Given the description of an element on the screen output the (x, y) to click on. 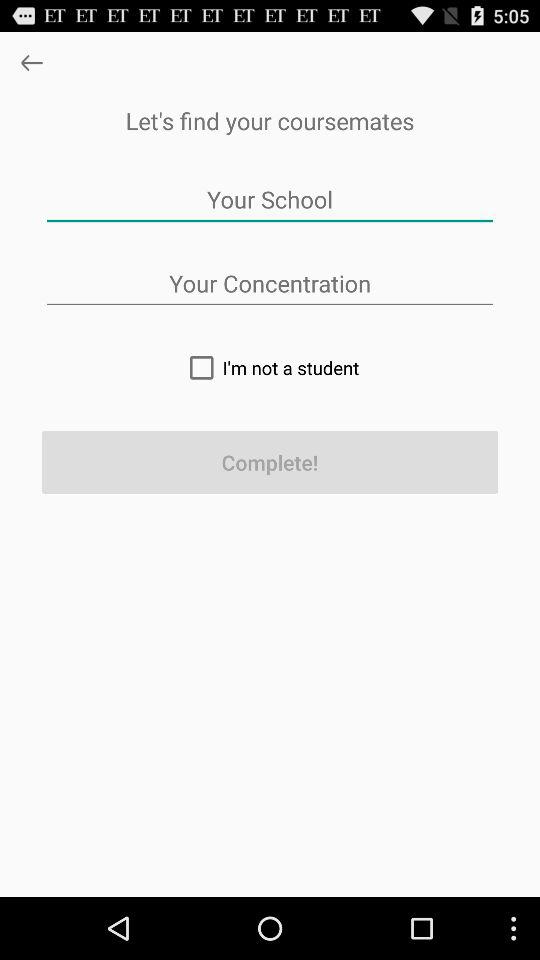
press app below let s find app (269, 199)
